Given the description of an element on the screen output the (x, y) to click on. 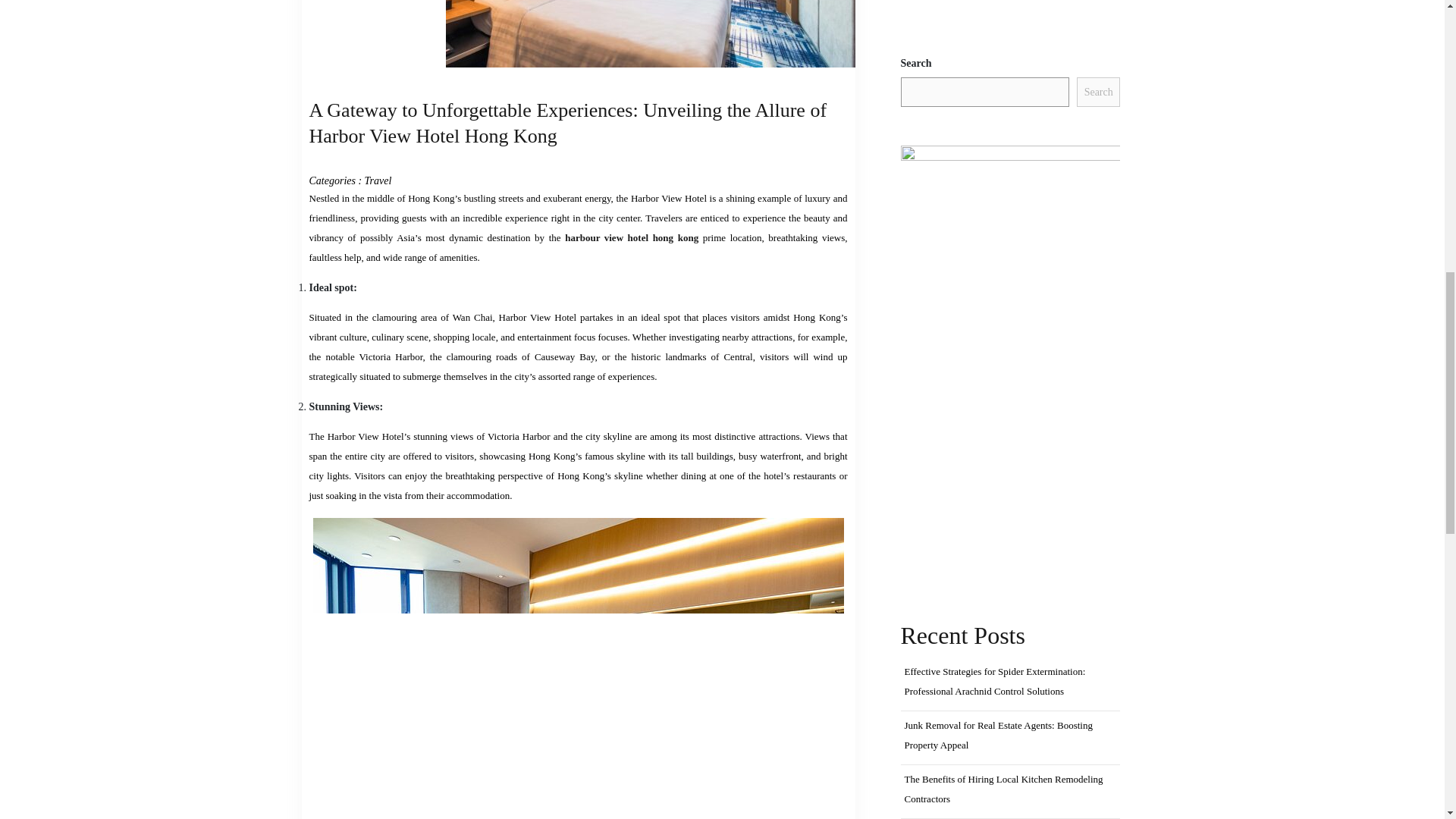
The Benefits of Hiring Local Kitchen Remodeling Contractors (1003, 788)
Search (1099, 91)
Travel (378, 180)
harbour view hotel hong kong (631, 237)
